Given the description of an element on the screen output the (x, y) to click on. 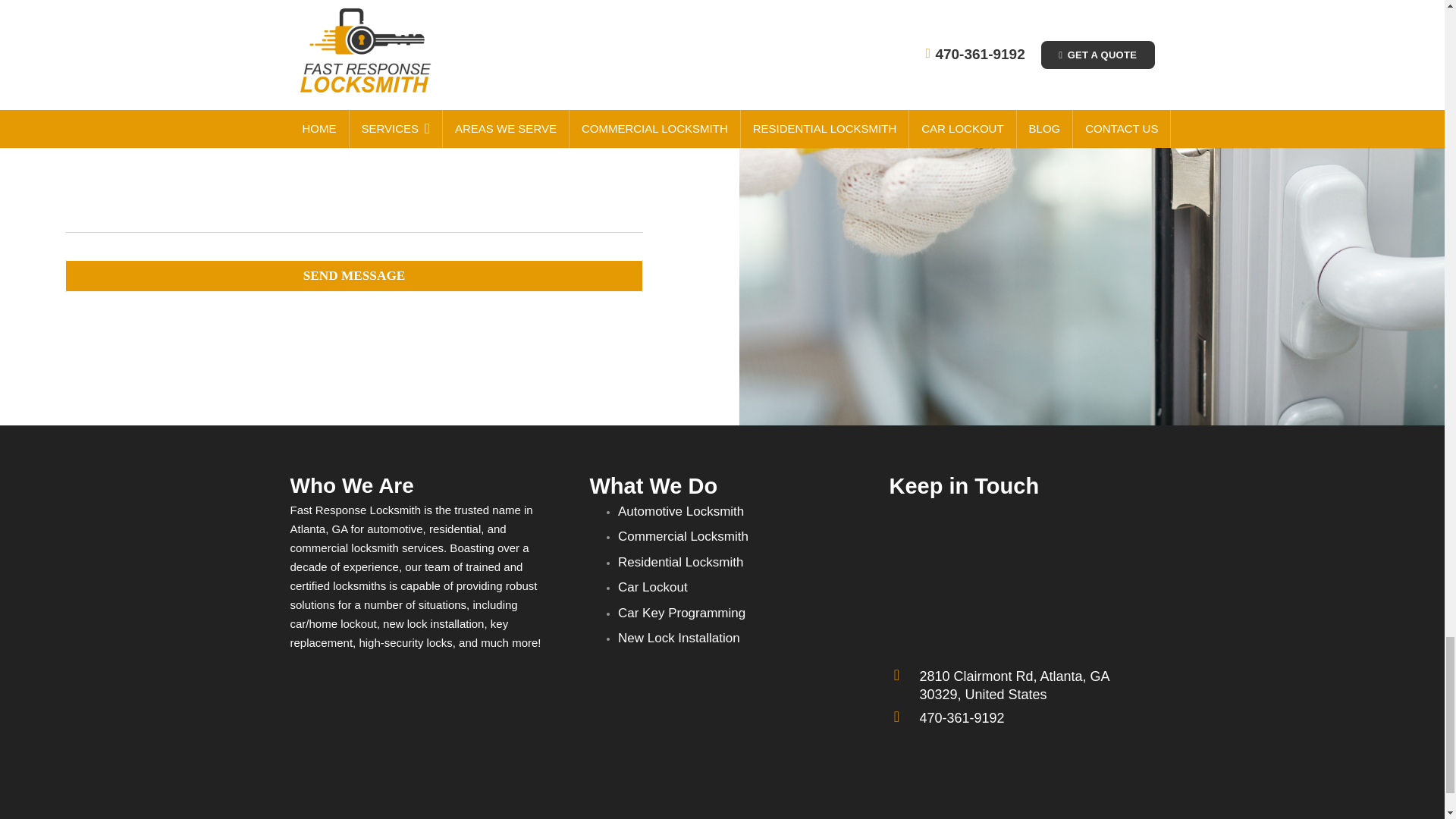
SEND MESSAGE (354, 275)
Commercial Locksmith (682, 536)
Car Lockout (652, 586)
New Lock Installation (678, 637)
Automotive Locksmith (680, 511)
Residential Locksmith (679, 562)
Car Key Programming (681, 612)
